Given the description of an element on the screen output the (x, y) to click on. 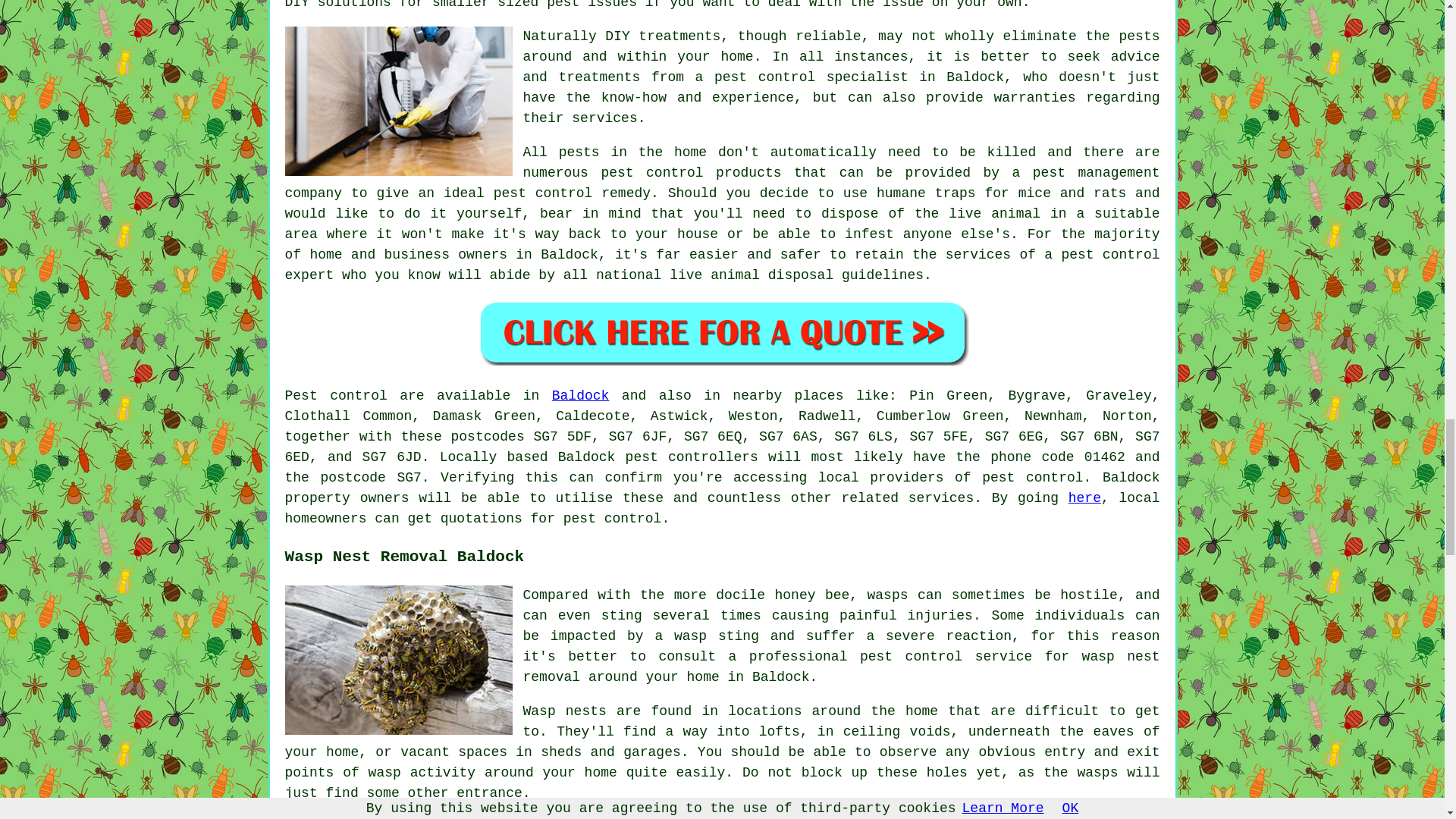
Pest control (336, 395)
Pest Management Service Baldock UK (398, 101)
